Given the description of an element on the screen output the (x, y) to click on. 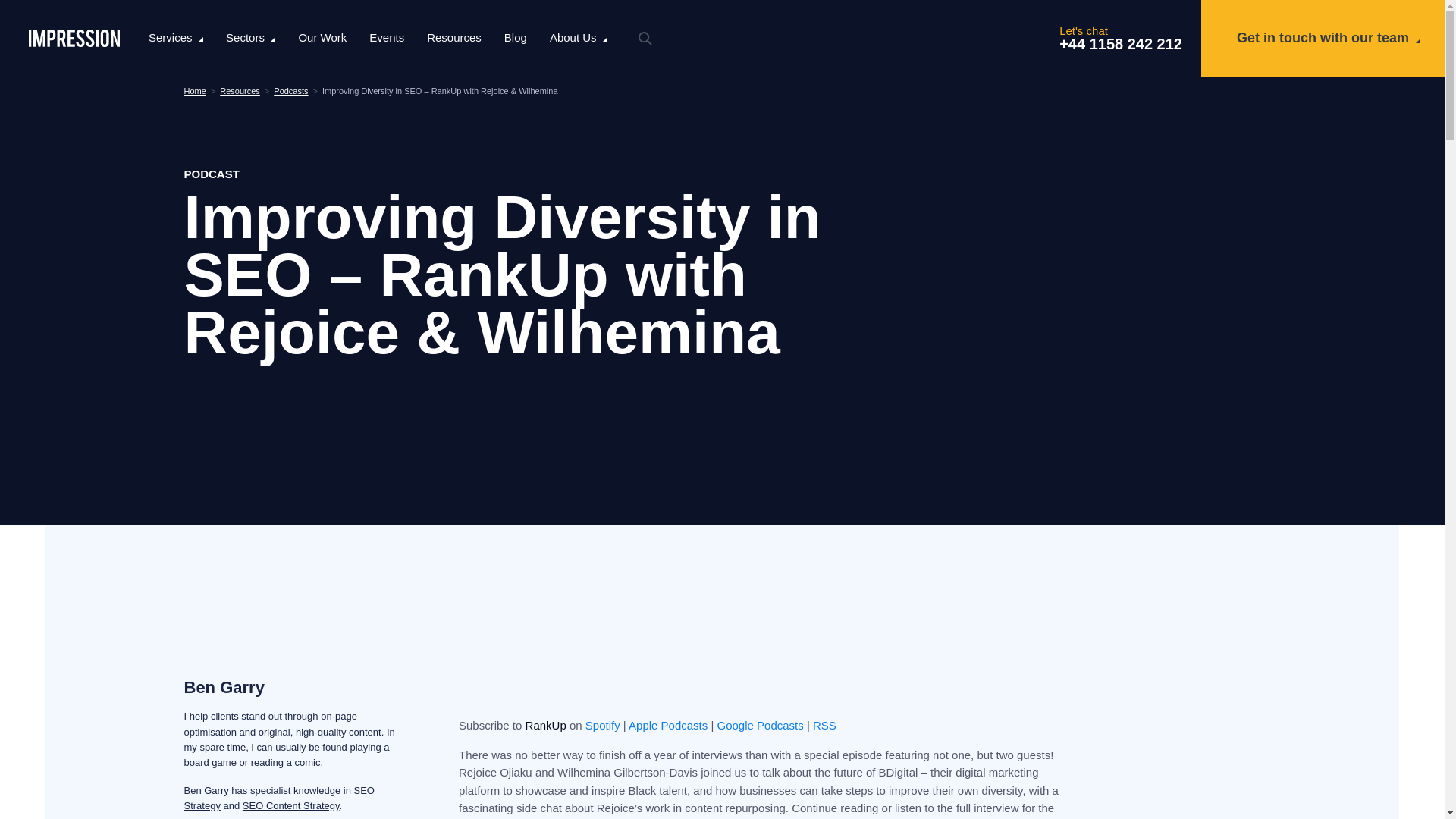
Go to the homepage (74, 38)
